Given the description of an element on the screen output the (x, y) to click on. 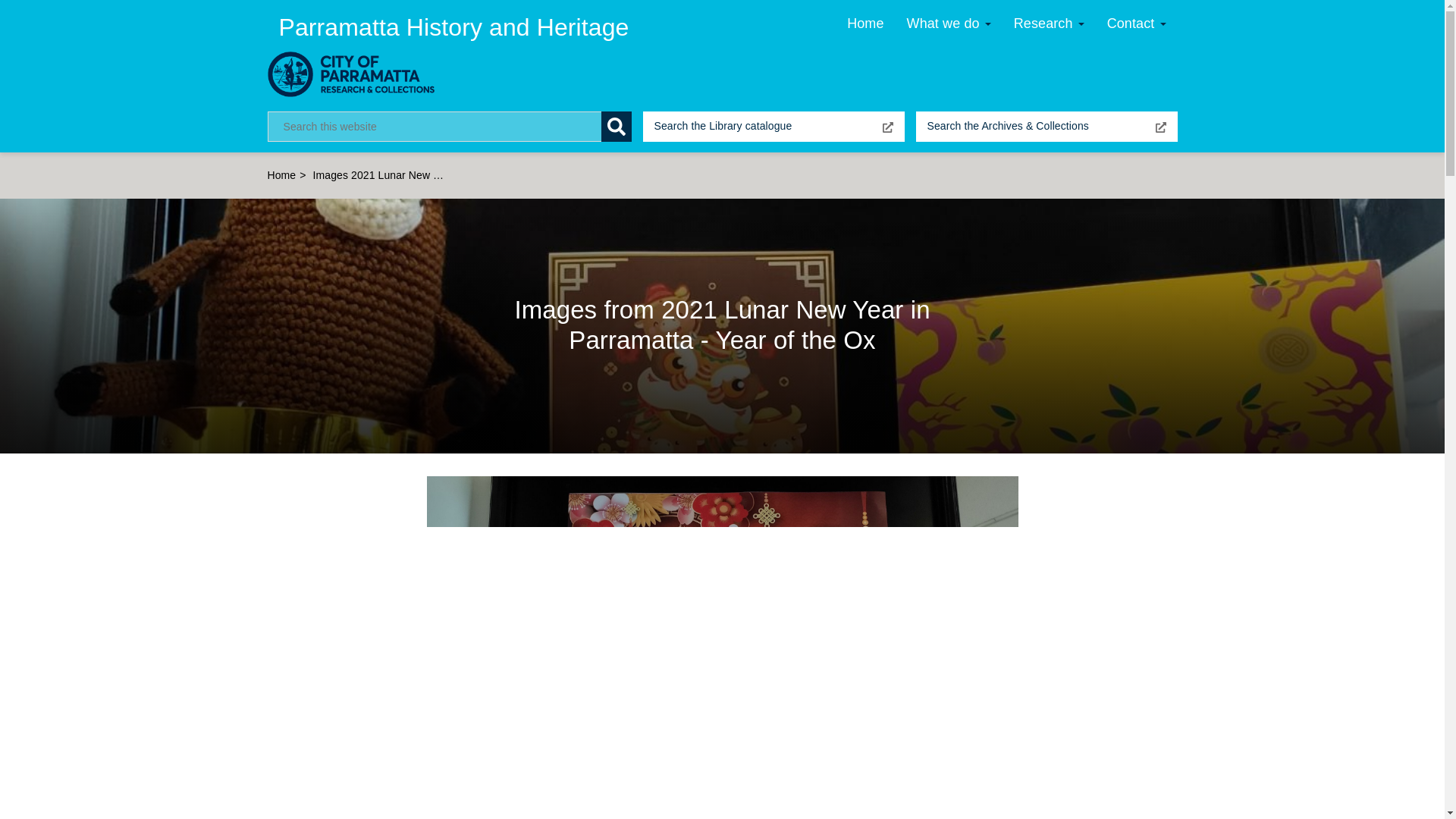
Home (453, 27)
Search (614, 126)
Home (355, 74)
Search the Library catalogue (773, 126)
Home (280, 174)
Contact (1136, 26)
Parramatta History and Heritage (453, 27)
Home (865, 26)
Research (1049, 26)
What we do (949, 26)
